Given the description of an element on the screen output the (x, y) to click on. 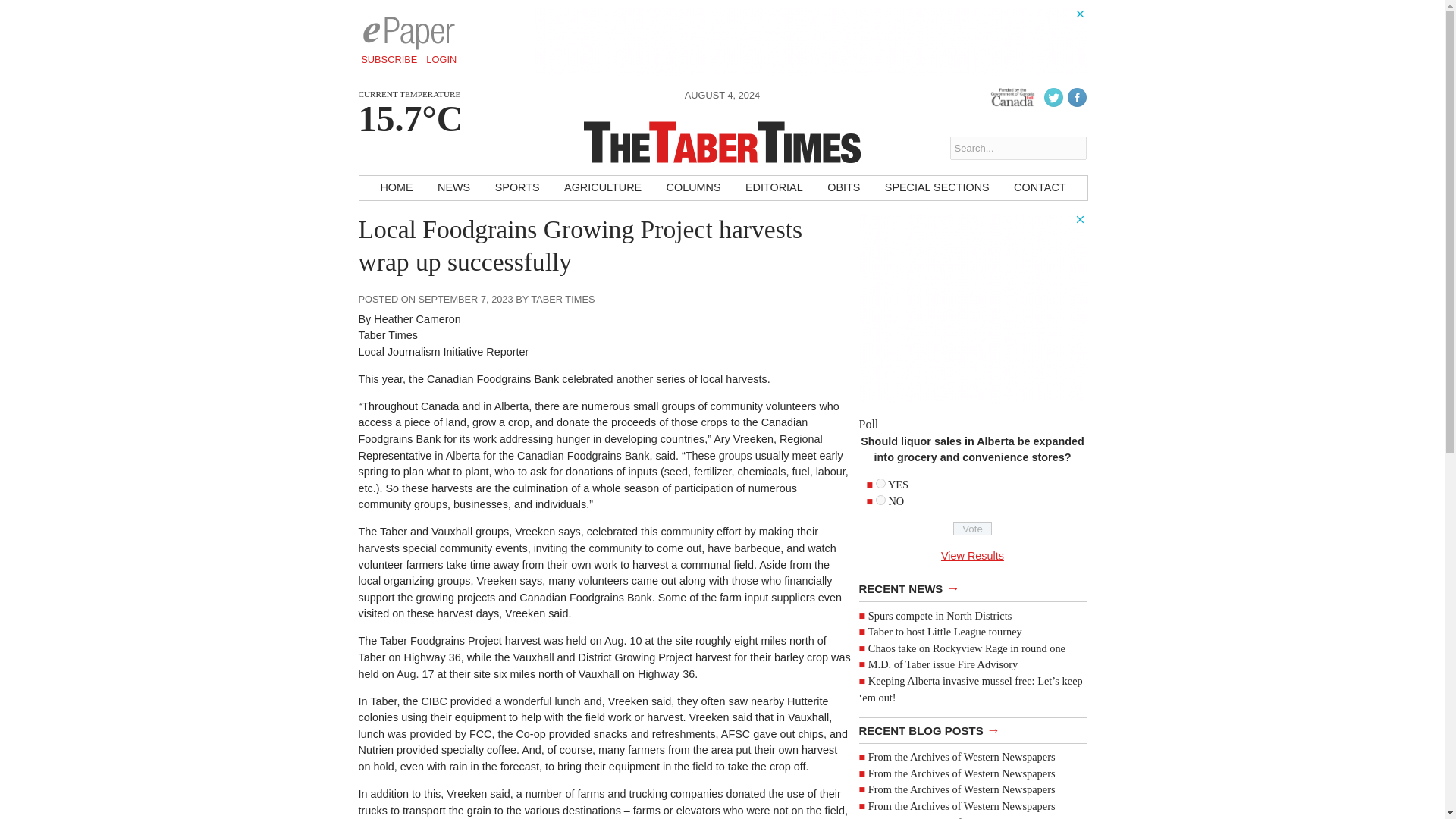
Taber to host Little League tourney (944, 631)
NEWS (453, 187)
COLUMNS (694, 187)
EDITORIAL (774, 187)
SUBSCRIBE (389, 58)
View Results Of This Poll (972, 555)
Chaos take on Rockyview Rage in round one (966, 648)
OBITS (843, 187)
Spurs compete in North Districts (939, 615)
From the Archives of Western Newspapers (961, 773)
